Given the description of an element on the screen output the (x, y) to click on. 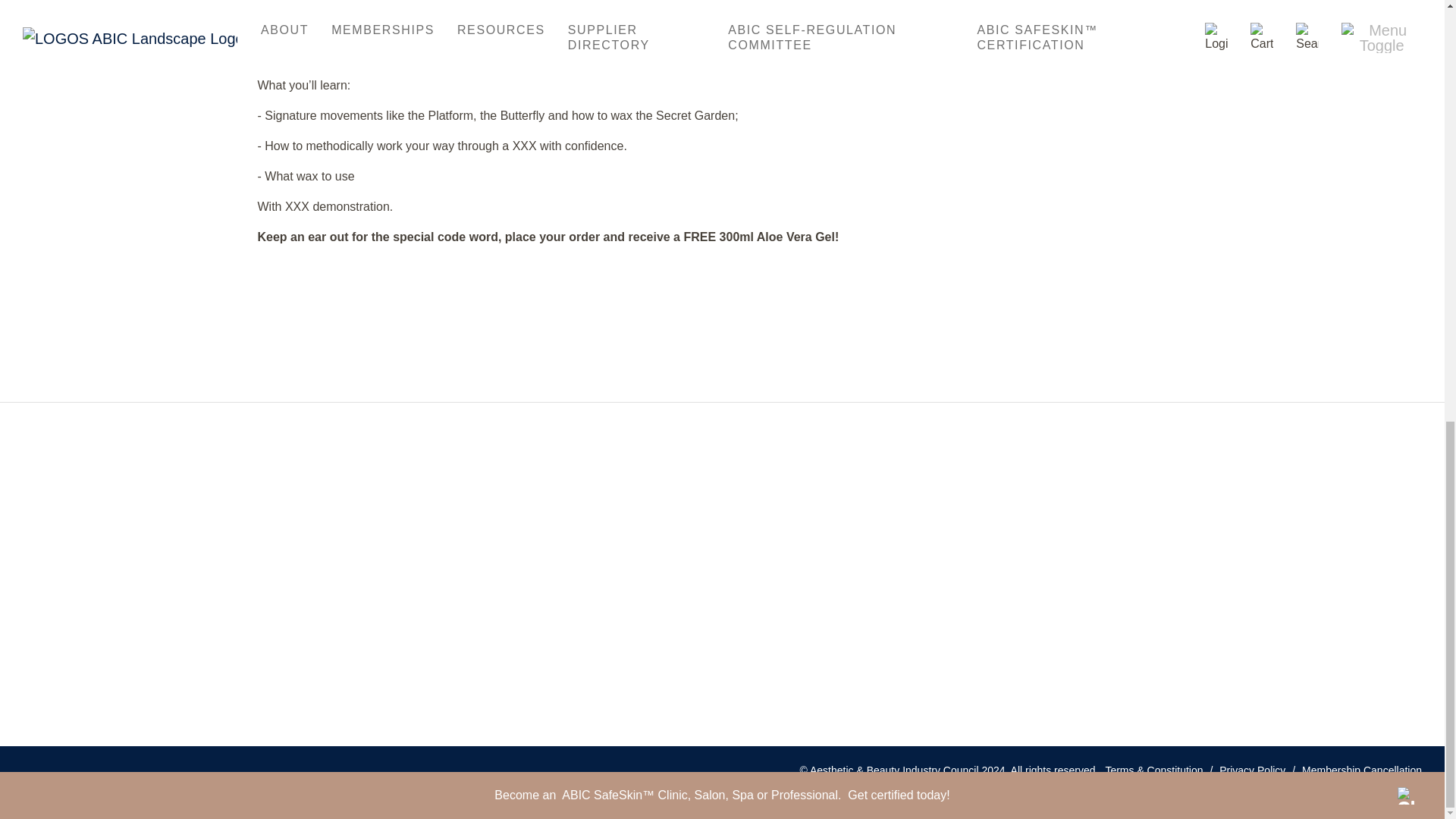
Zimple Digital (1361, 793)
